Given the description of an element on the screen output the (x, y) to click on. 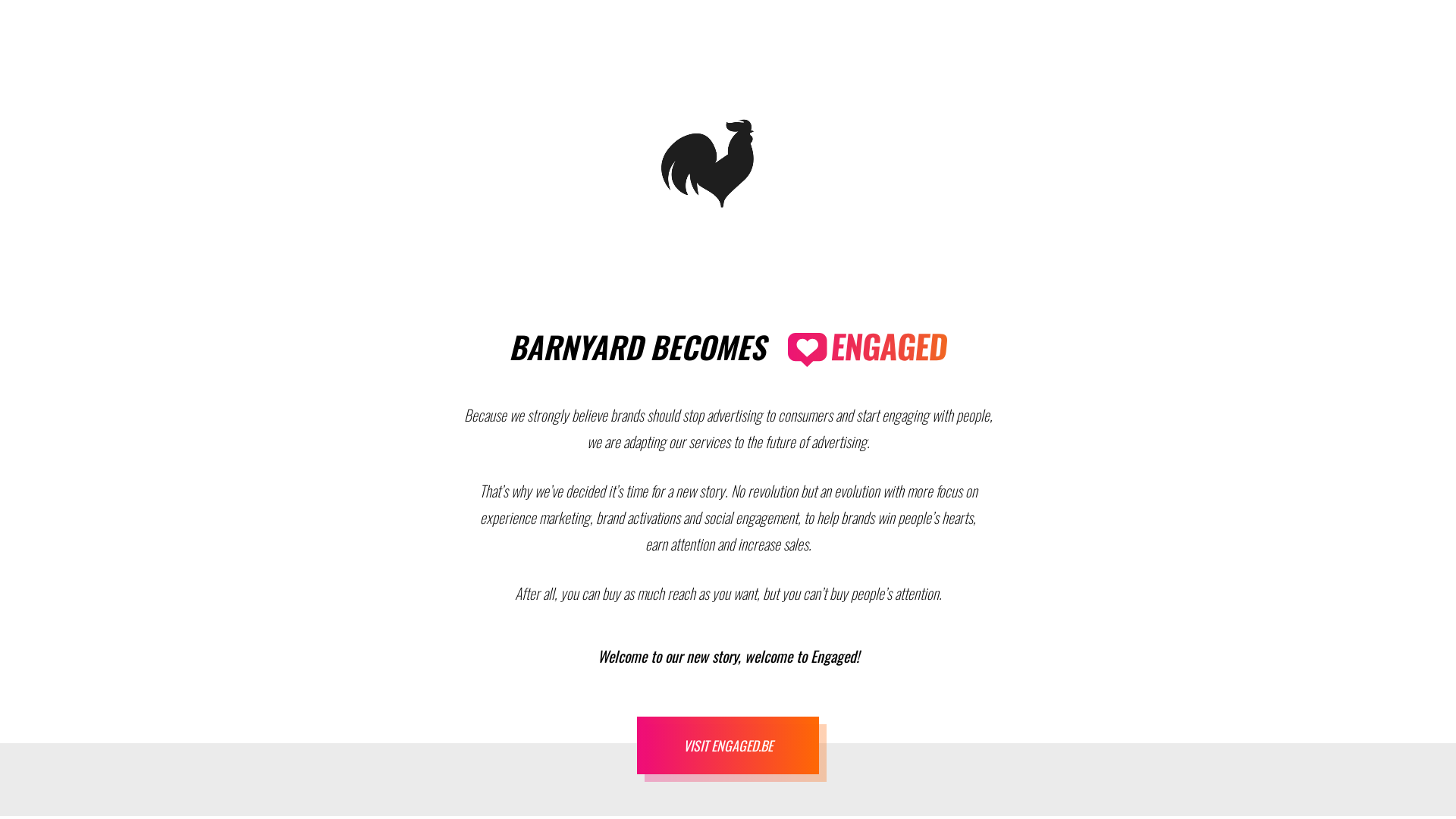
VISIT ENGAGED.BE Element type: text (728, 745)
Engaged Element type: text (867, 349)
